Given the description of an element on the screen output the (x, y) to click on. 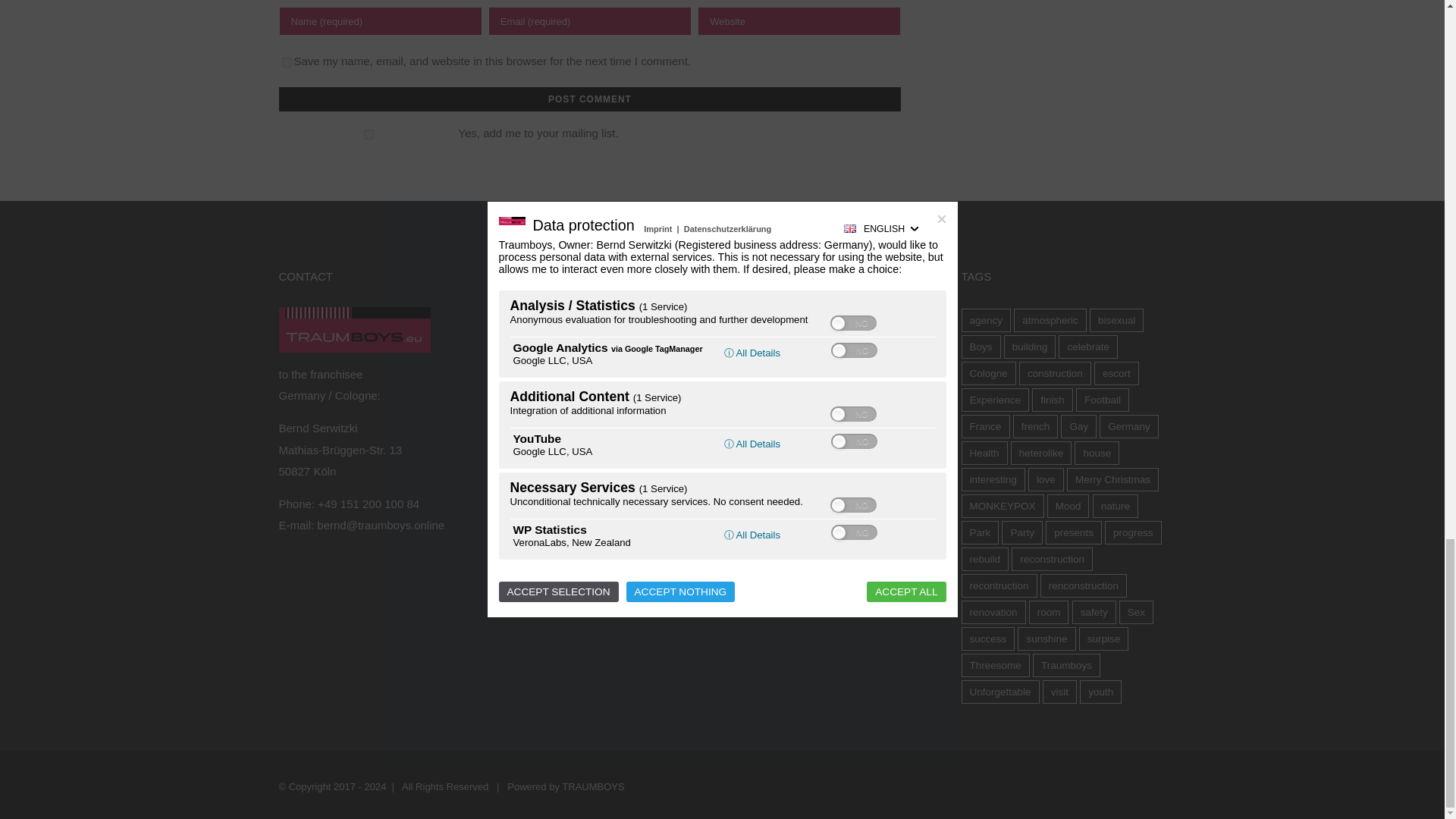
yes (287, 62)
1 (369, 134)
Post Comment (590, 98)
